Given the description of an element on the screen output the (x, y) to click on. 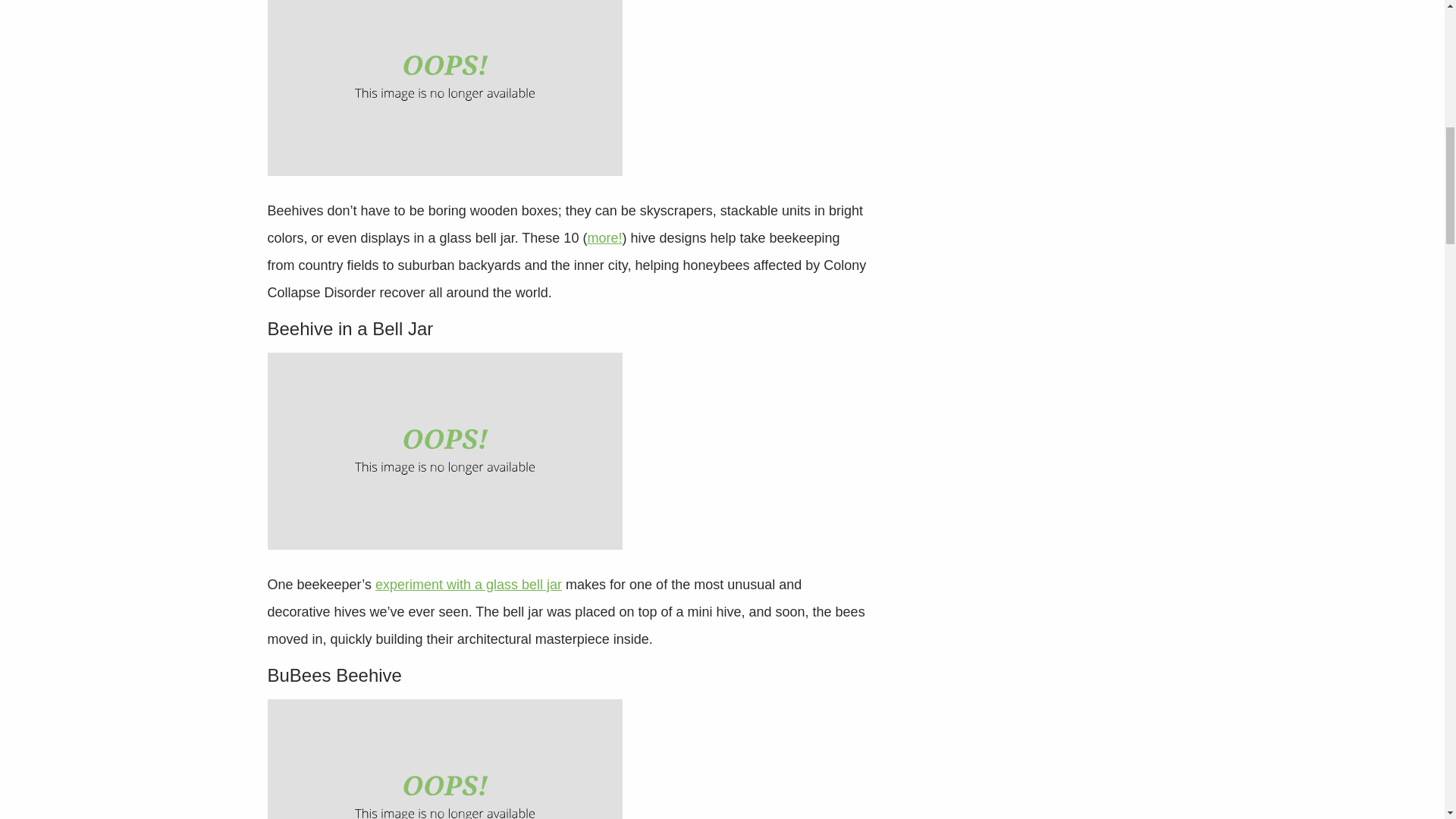
more! (603, 237)
Beehive Designs Bell Jar (443, 450)
Beehive Designs main (443, 88)
experiment with a glass bell jar (468, 584)
Beehive Design Bubees (443, 759)
